Given the description of an element on the screen output the (x, y) to click on. 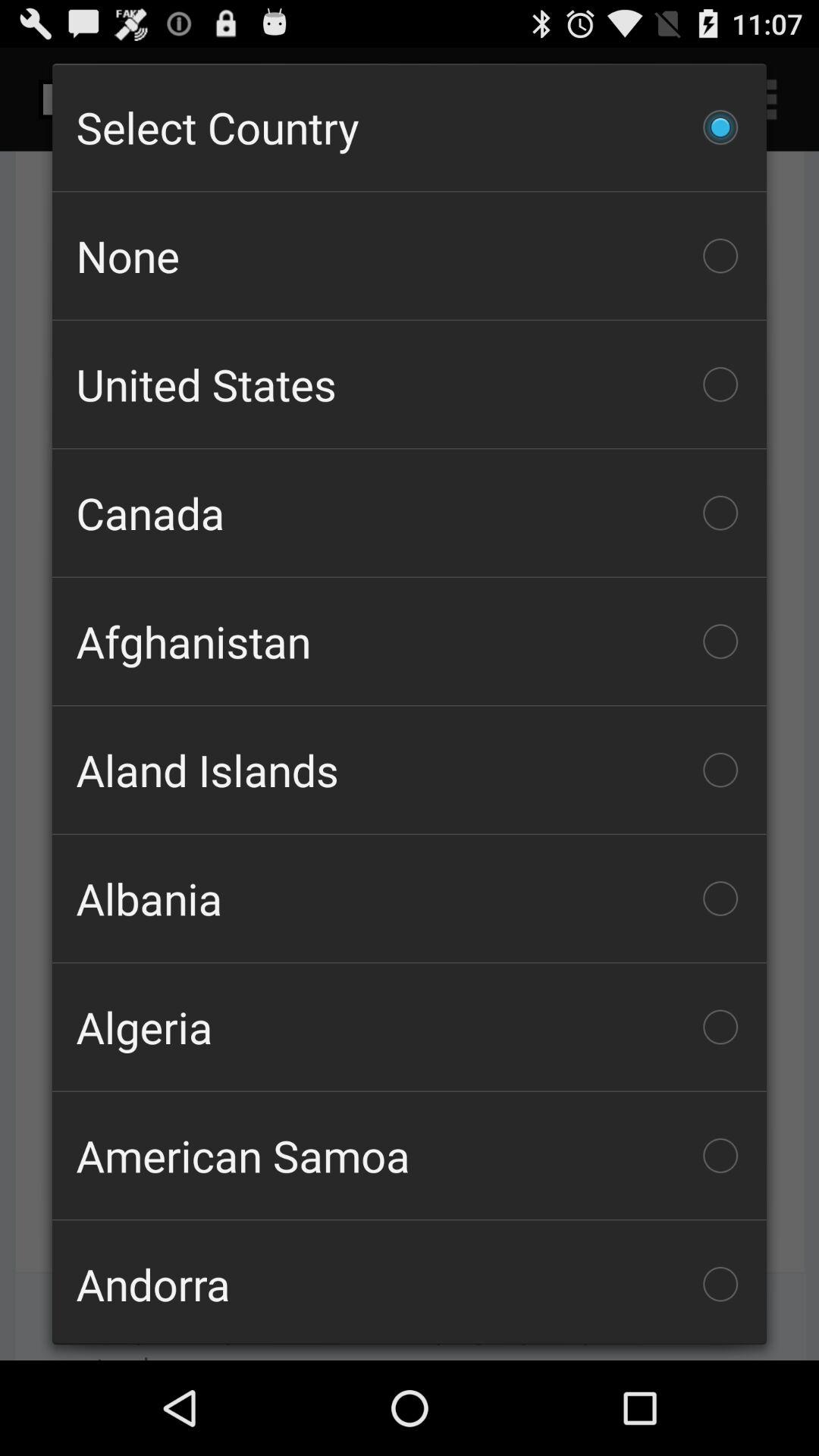
turn on the checkbox below none icon (409, 384)
